Given the description of an element on the screen output the (x, y) to click on. 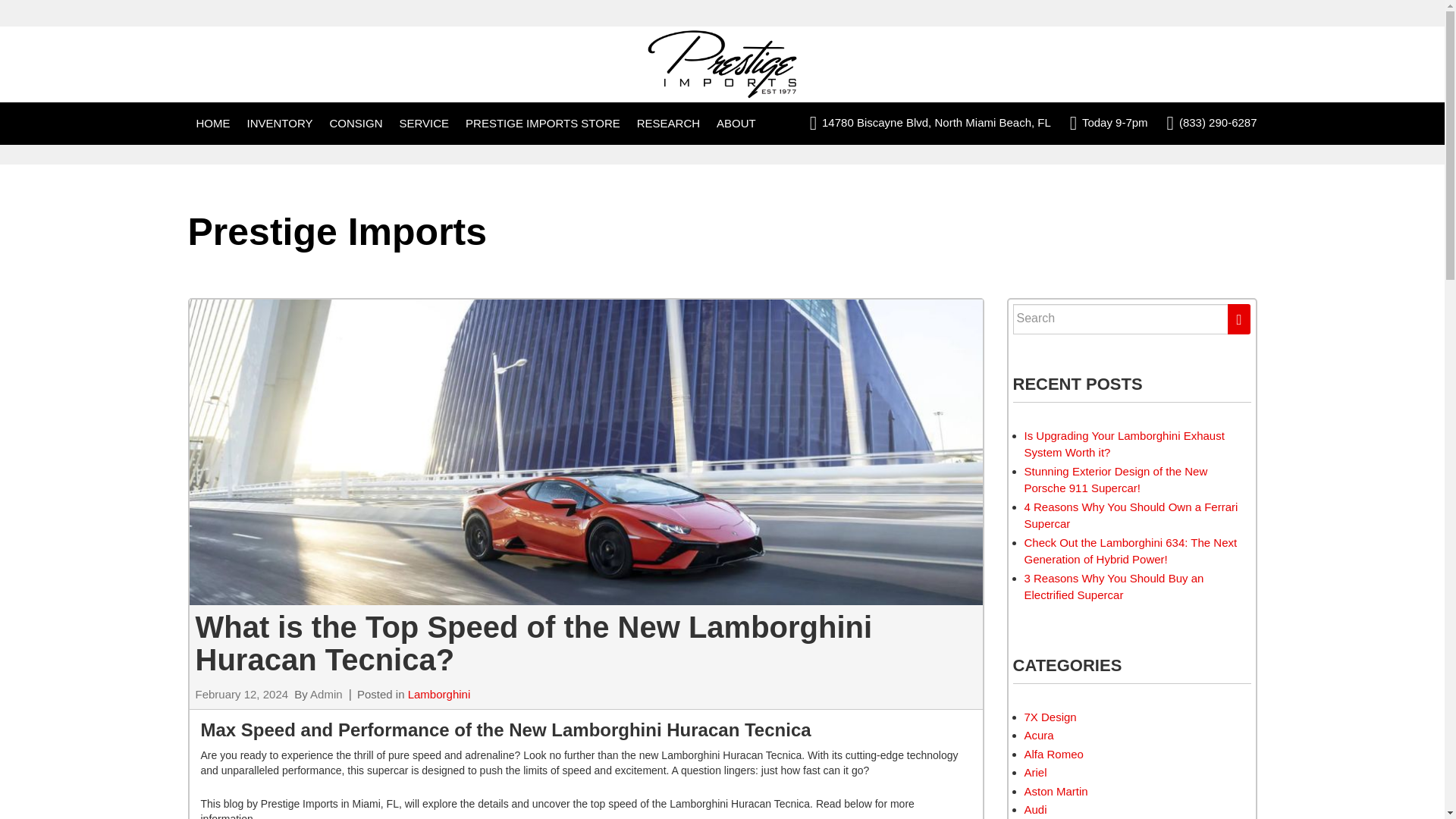
INVENTORY (279, 123)
RESEARCH (668, 123)
SERVICE (424, 123)
HOME (212, 123)
CONSIGN (355, 123)
Prestige Imports (721, 64)
ABOUT (736, 123)
PRESTIGE IMPORTS STORE (542, 123)
